Given the description of an element on the screen output the (x, y) to click on. 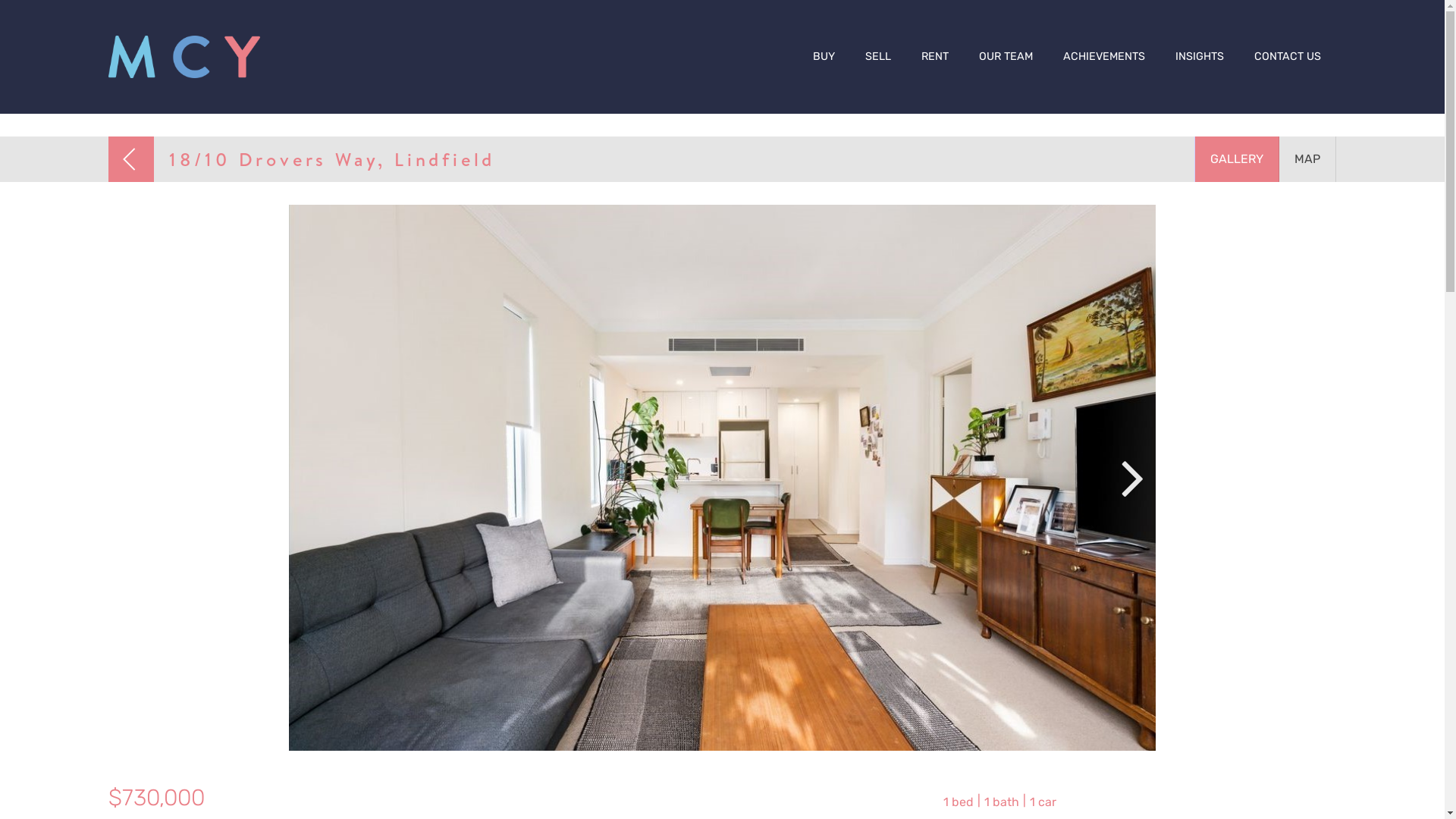
Back Element type: hover (130, 159)
CONTACT US Element type: text (1287, 56)
GALLERY Element type: text (1236, 159)
ACHIEVEMENTS Element type: text (1104, 56)
SELL Element type: text (878, 56)
MAP Element type: text (1307, 159)
OUR TEAM Element type: text (1005, 56)
RENT Element type: text (934, 56)
BUY Element type: text (823, 56)
INSIGHTS Element type: text (1199, 56)
